Given the description of an element on the screen output the (x, y) to click on. 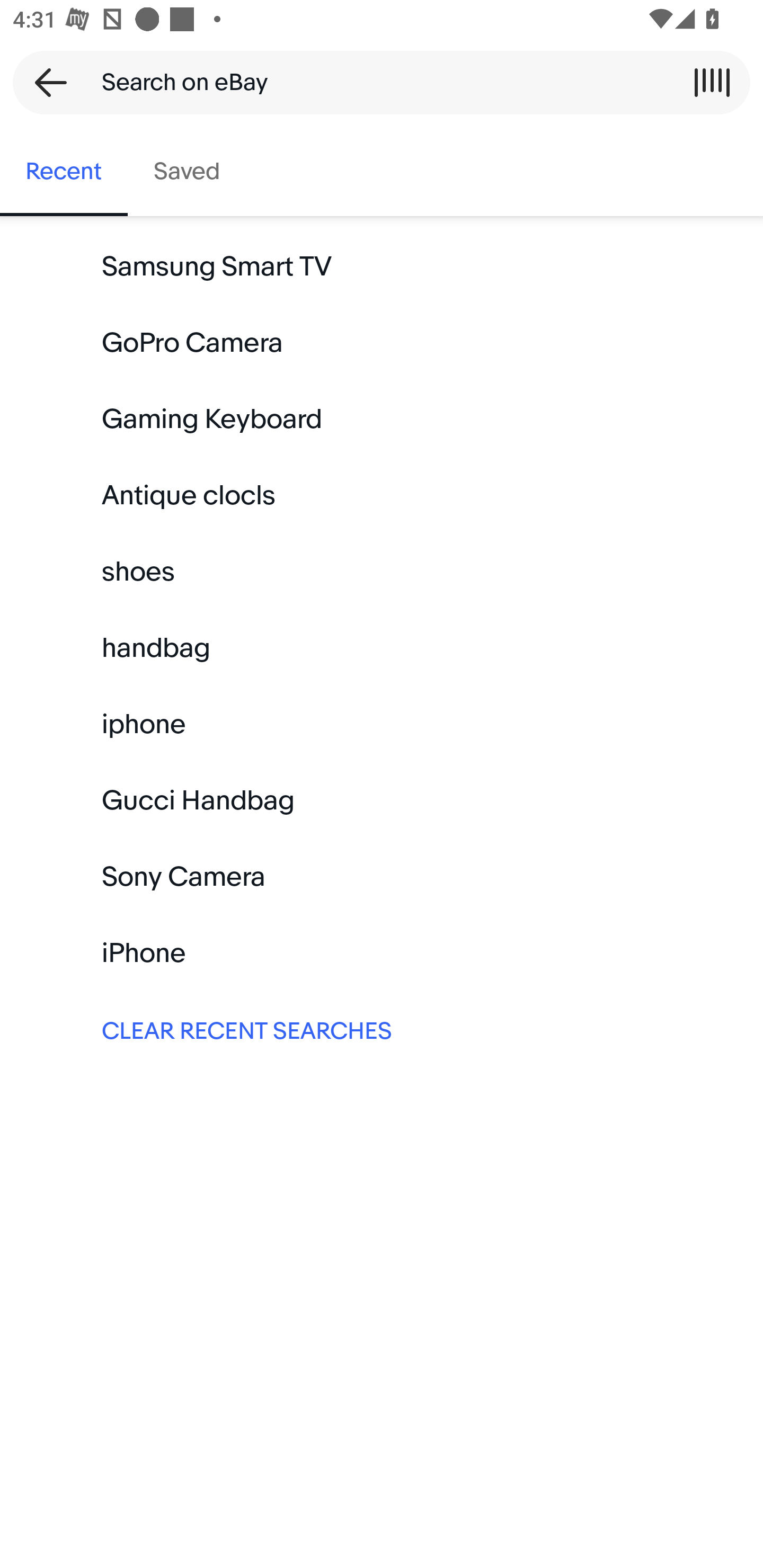
Back (44, 82)
Scan a barcode (711, 82)
Search on eBay (375, 82)
Saved, tab 2 of 2 Saved (186, 171)
Samsung Smart TV Keyword search Samsung Smart TV: (381, 266)
GoPro Camera Keyword search GoPro Camera: (381, 343)
Gaming Keyboard Keyword search Gaming Keyboard: (381, 419)
Antique clocls Keyword search Antique clocls: (381, 495)
shoes Keyword search shoes: (381, 571)
handbag Keyword search handbag: (381, 647)
iphone Keyword search iphone: (381, 724)
Gucci Handbag Keyword search Gucci Handbag: (381, 800)
Sony Camera Keyword search Sony Camera: (381, 876)
iPhone Keyword search iPhone: (381, 952)
CLEAR RECENT SEARCHES (381, 1028)
